Given the description of an element on the screen output the (x, y) to click on. 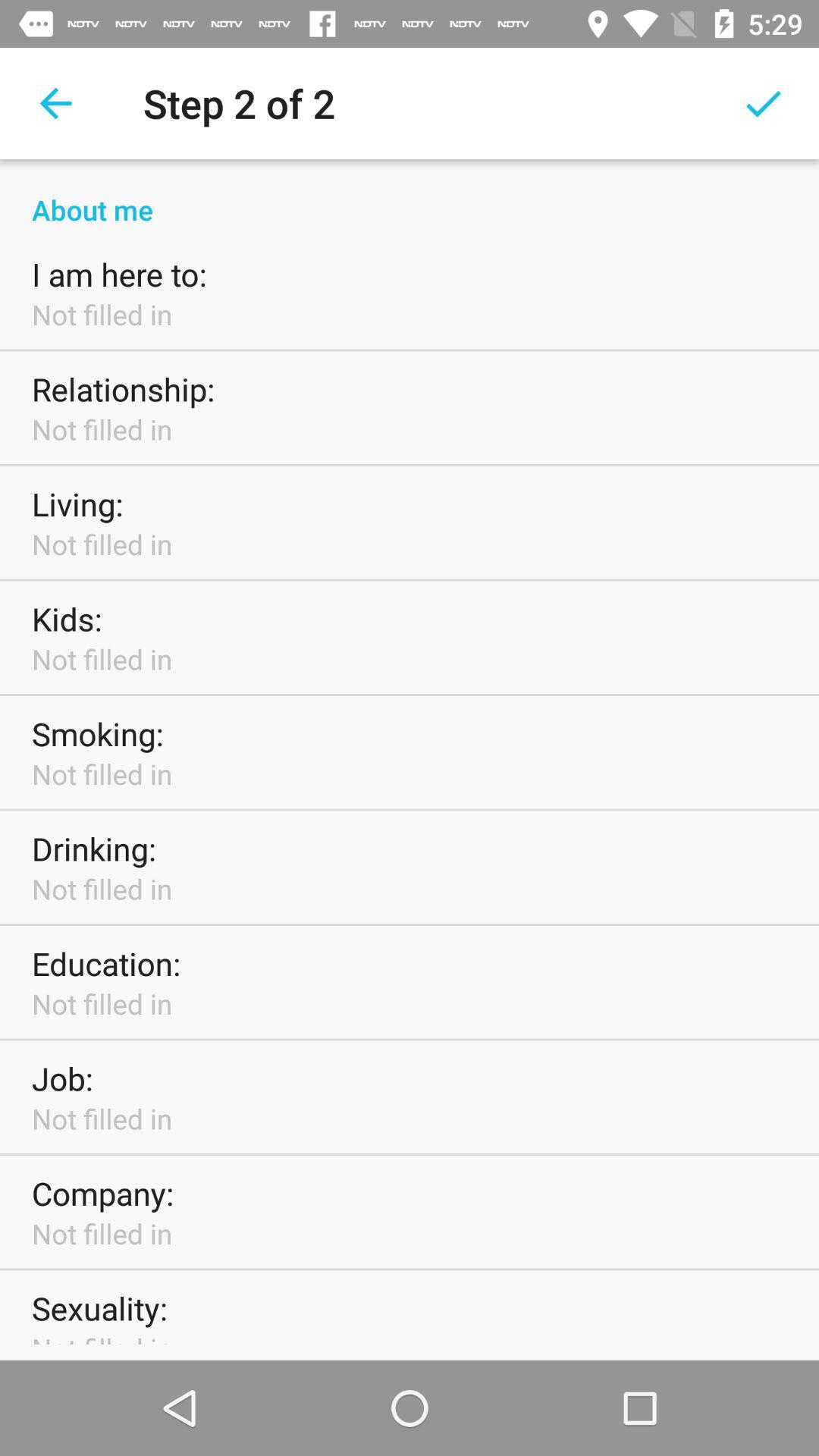
turn off the icon at the top right corner (763, 103)
